Given the description of an element on the screen output the (x, y) to click on. 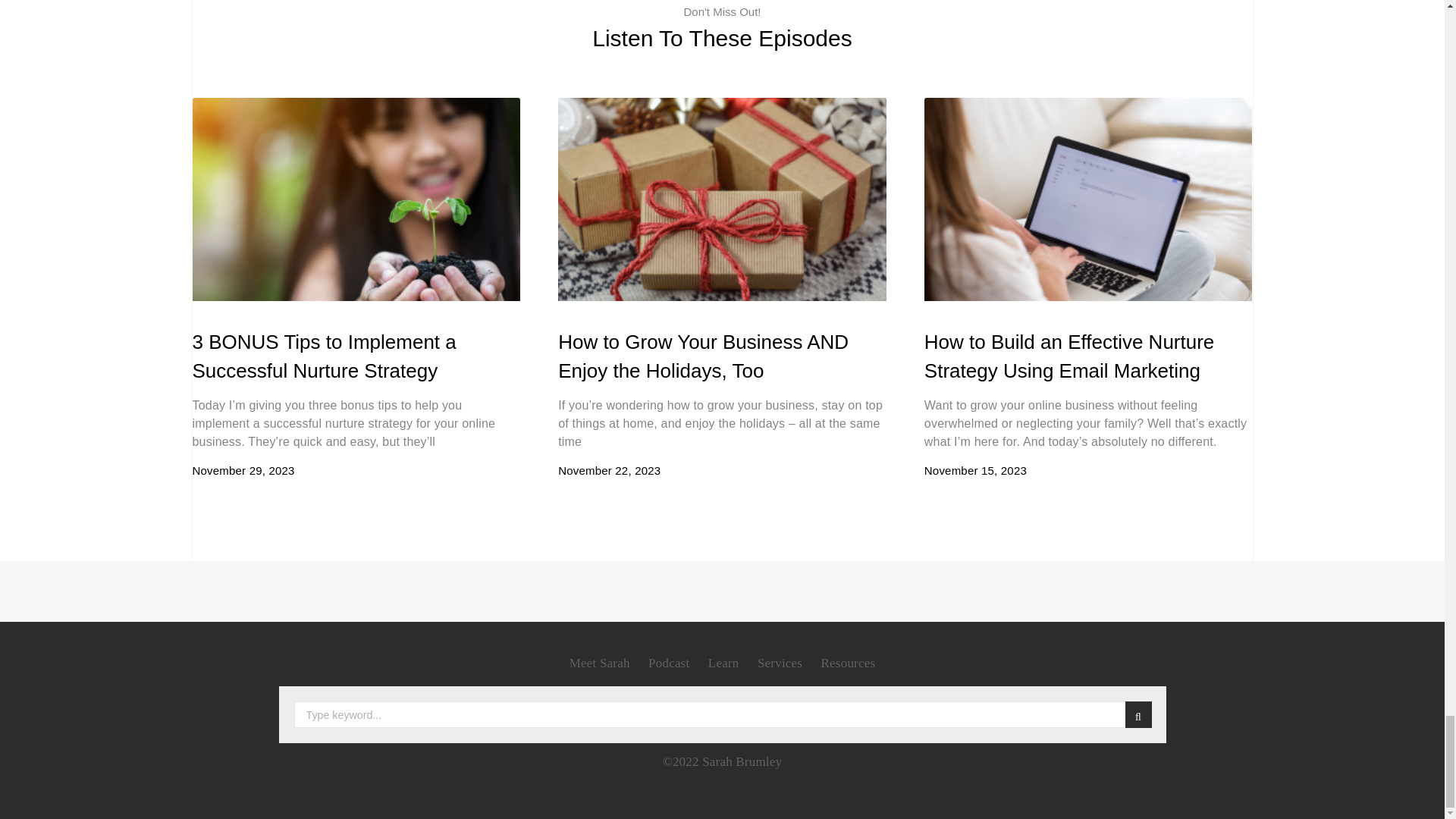
3 BONUS Tips to Implement a Successful Nurture Strategy (324, 356)
Meet Sarah (599, 663)
How to Grow Your Business AND Enjoy the Holidays, Too (702, 356)
